Given the description of an element on the screen output the (x, y) to click on. 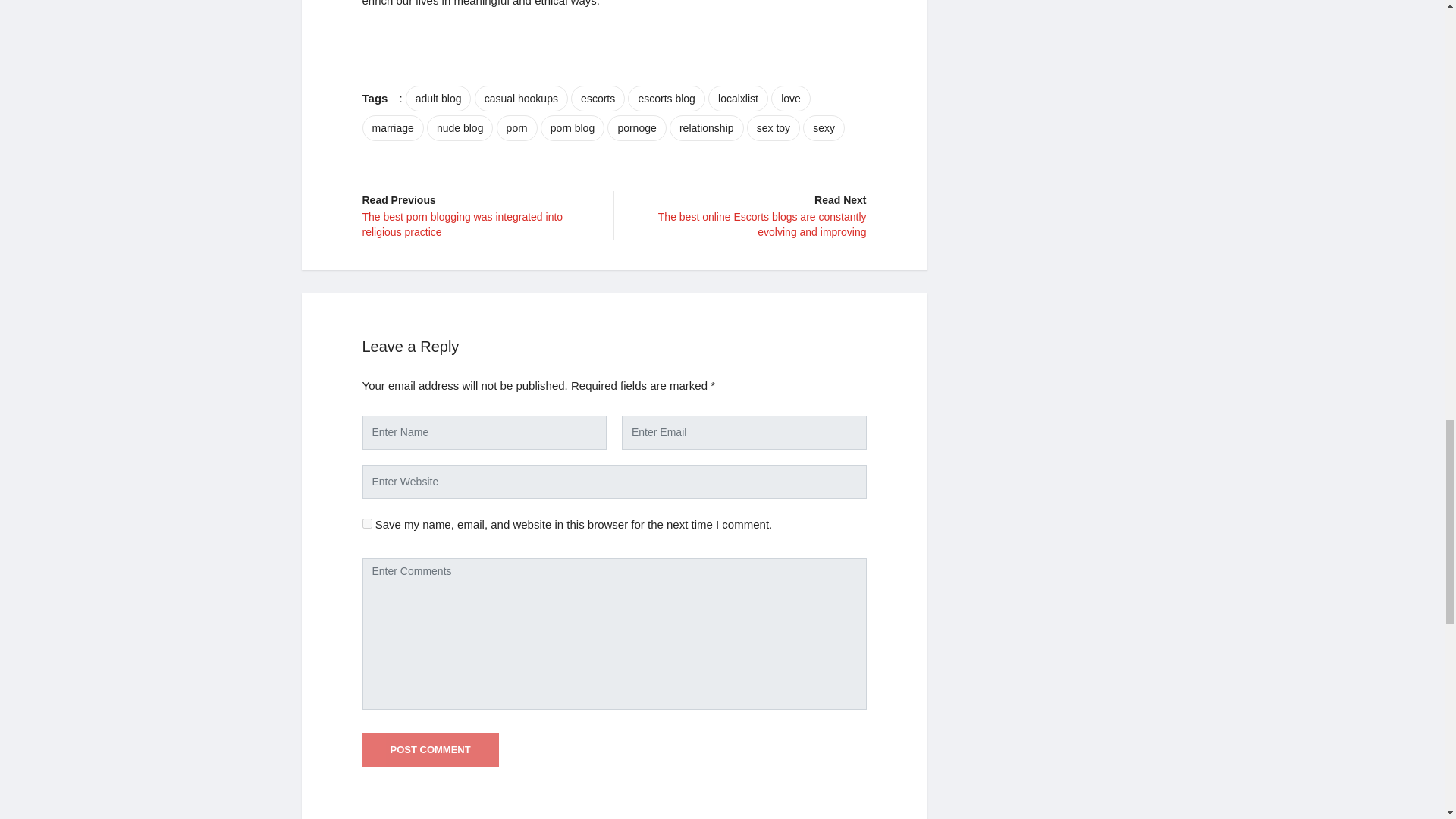
localxlist (737, 98)
adult blog (438, 98)
yes (367, 523)
porn blog (572, 127)
escorts (597, 98)
casual hookups (520, 98)
marriage (392, 127)
sex toy (772, 127)
relationship (706, 127)
porn (516, 127)
